Given the description of an element on the screen output the (x, y) to click on. 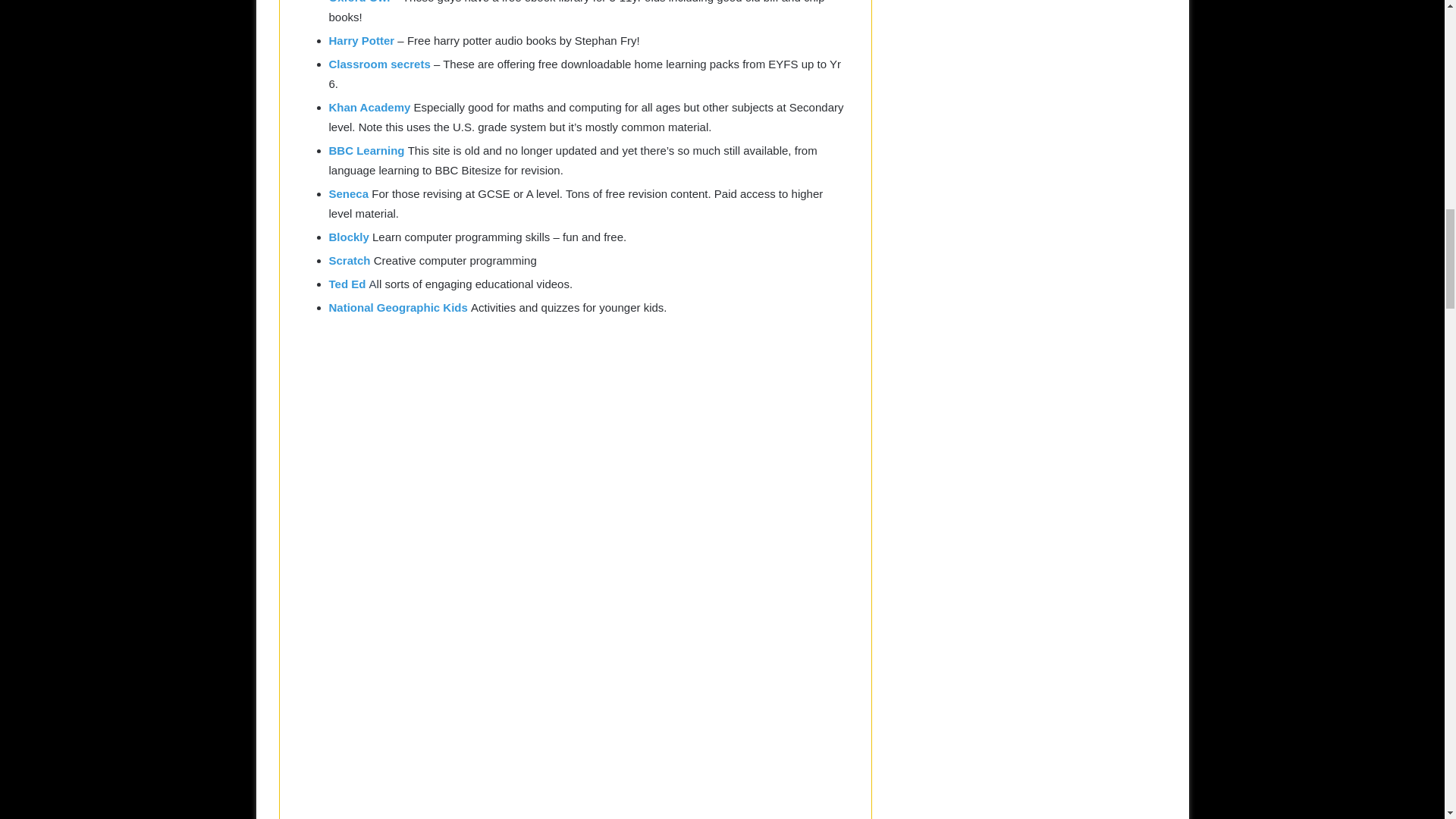
Classroom secrets (379, 63)
Harry Potter (361, 40)
Khan Academy (371, 106)
BBC Learning (368, 150)
Oxford Owl (359, 2)
